Given the description of an element on the screen output the (x, y) to click on. 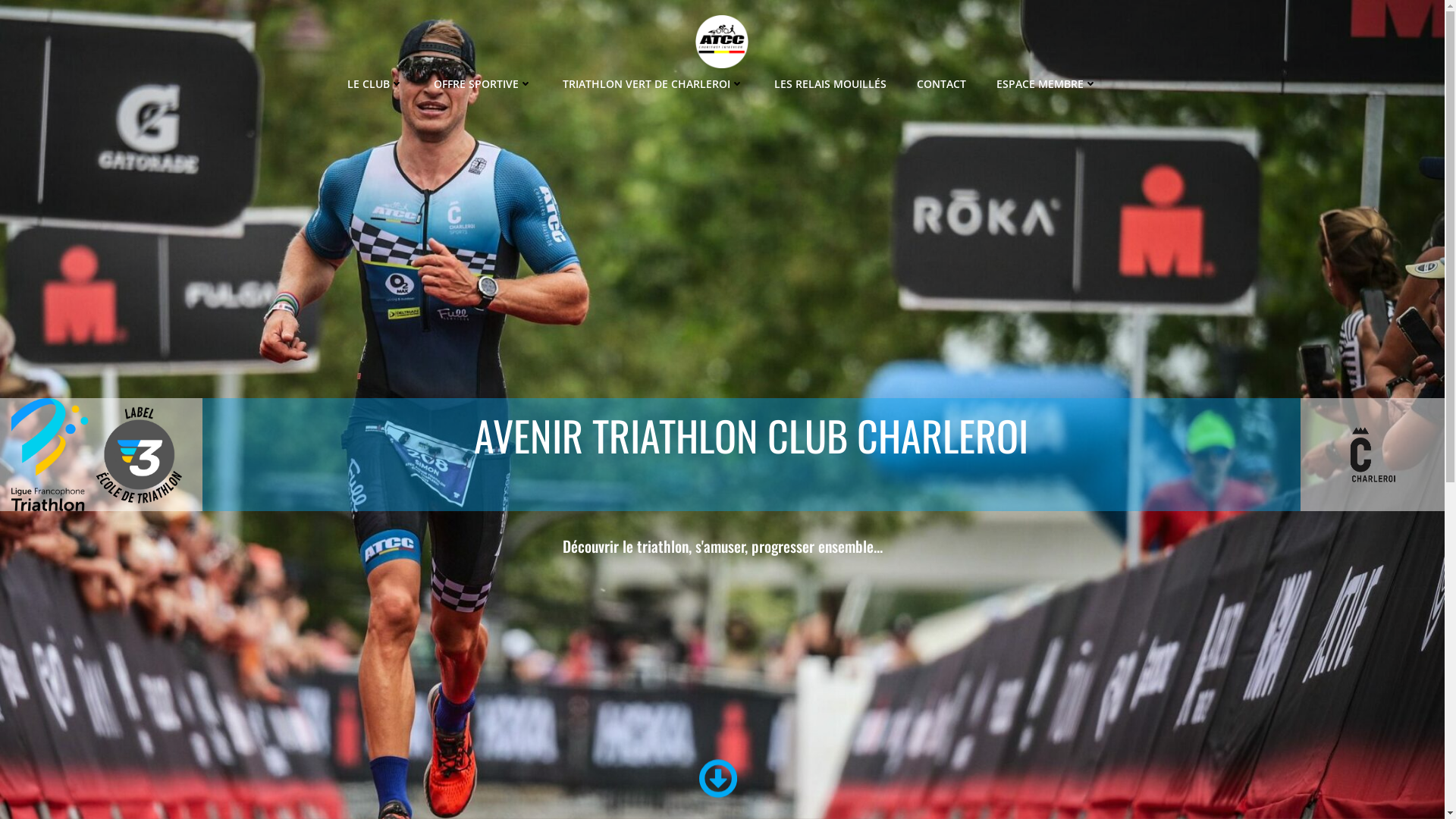
CONTACT Element type: text (941, 83)
LE CLUB Element type: text (375, 83)
TRIATHLON VERT DE CHARLEROI Element type: text (652, 83)
ESPACE MEMBRE Element type: text (1046, 83)
OFFRE SPORTIVE Element type: text (482, 83)
